Given the description of an element on the screen output the (x, y) to click on. 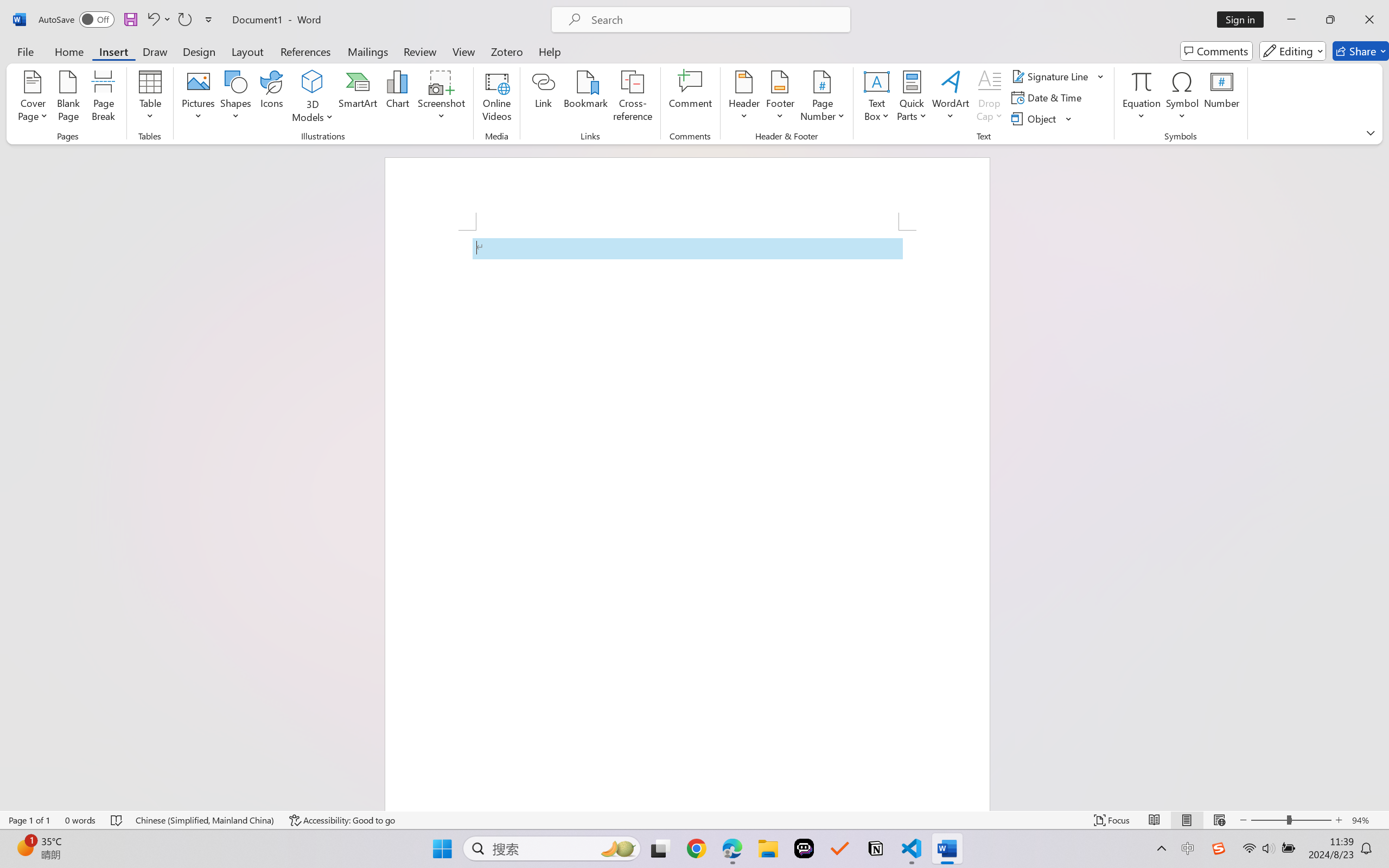
Footer (780, 97)
Drop Cap (989, 97)
Date & Time... (1048, 97)
Header (743, 97)
Screenshot (441, 97)
Chart... (396, 97)
Repeat Style (184, 19)
